Given the description of an element on the screen output the (x, y) to click on. 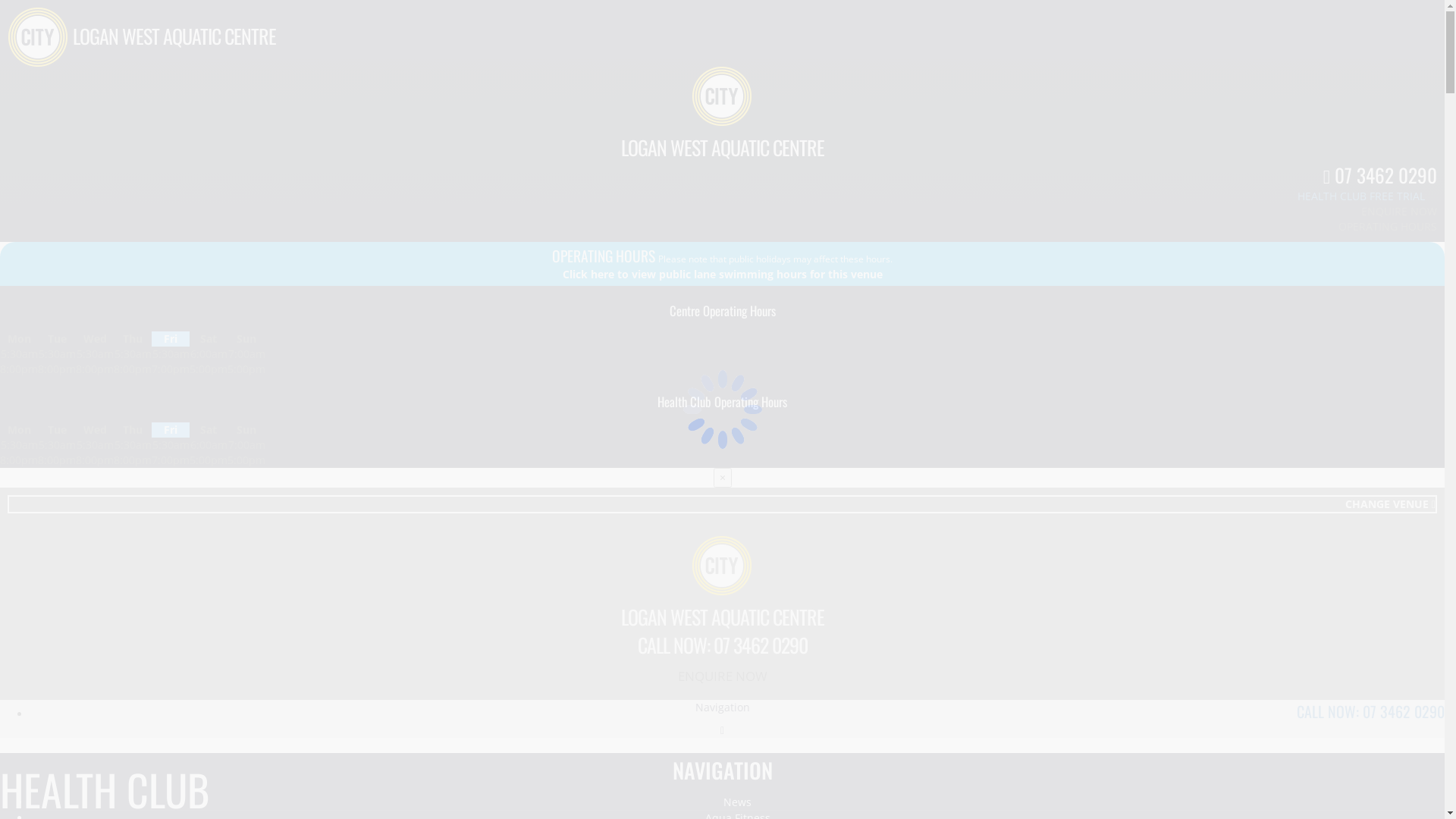
Click here to view public lane swimming hours for this venue Element type: text (722, 273)
LOGAN WEST AQUATIC CENTRE Element type: text (174, 35)
CALL NOW: 07 3462 0290 Element type: text (1370, 710)
HEALTH CLUB FREE TRIAL Element type: text (1361, 195)
LOGAN WEST AQUATIC CENTRE Element type: text (721, 616)
07 3462 0290 Element type: text (1380, 174)
CALL NOW: 07 3462 0290 Element type: text (721, 644)
News Element type: text (737, 801)
LOGAN WEST AQUATIC CENTRE Element type: text (721, 147)
